Given the description of an element on the screen output the (x, y) to click on. 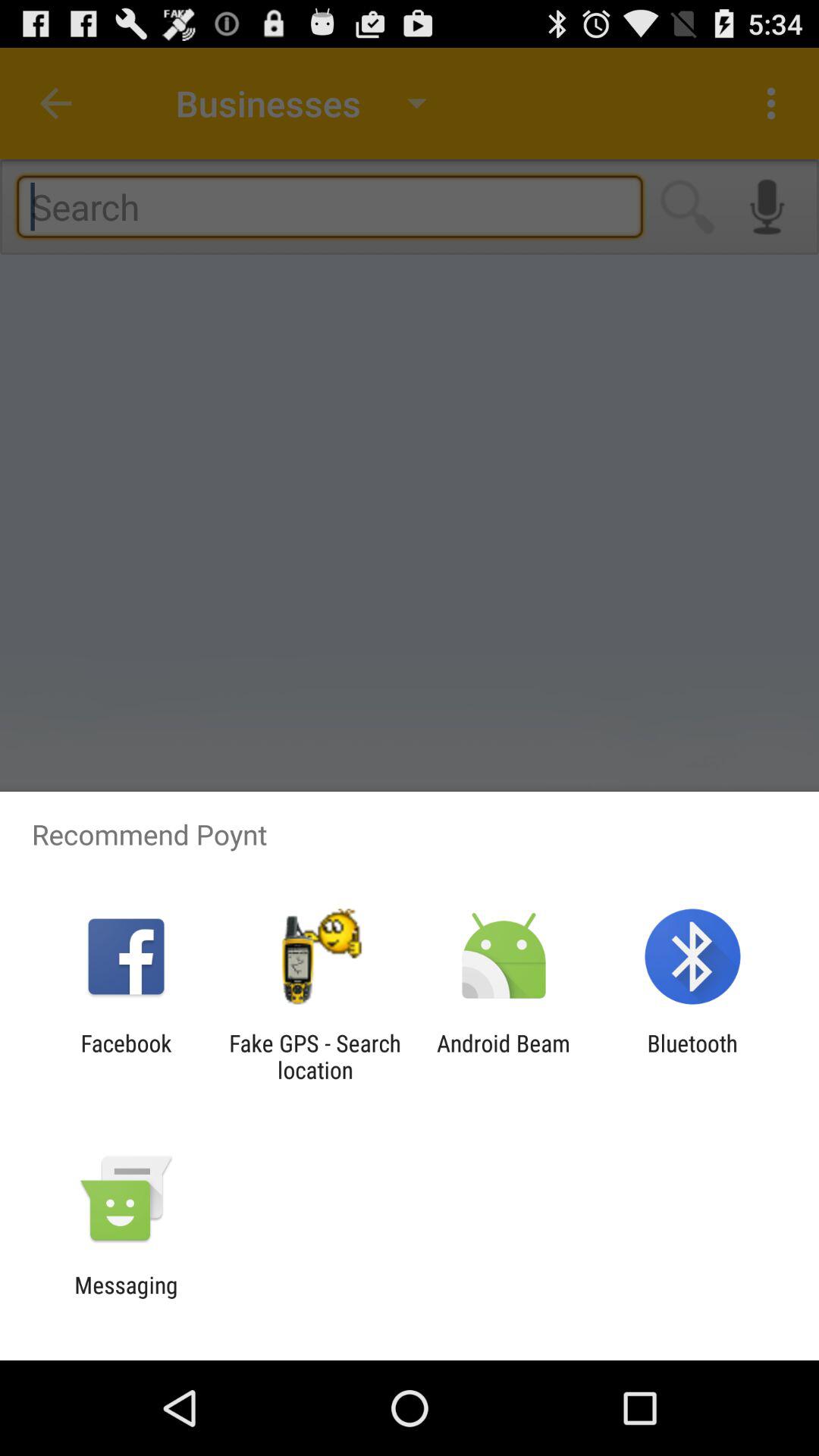
turn on app next to android beam (314, 1056)
